Given the description of an element on the screen output the (x, y) to click on. 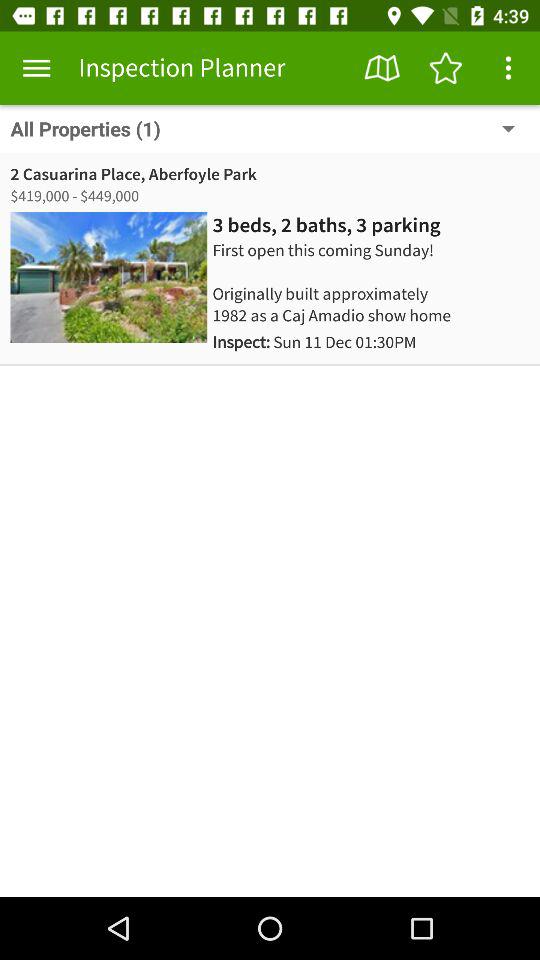
turn on 3 beds 2 item (326, 225)
